Given the description of an element on the screen output the (x, y) to click on. 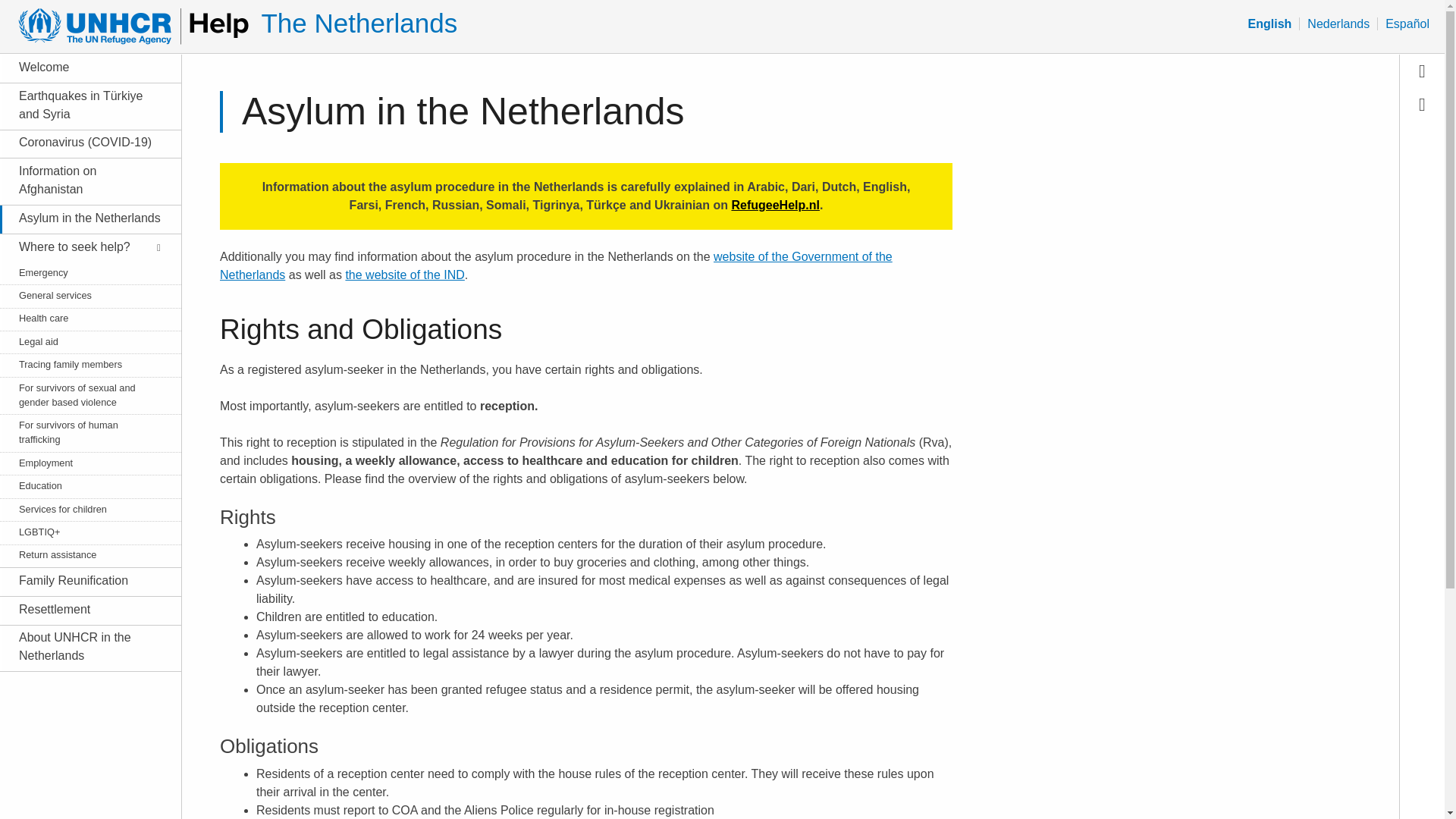
Where to seek help? (81, 247)
Health care (81, 318)
Information on Afghanistan (81, 180)
Return assistance (81, 554)
Tracing family members (81, 364)
UNHCR The Netherlands (358, 22)
Dutch (1338, 24)
Welcome (81, 67)
Services for children (81, 509)
The Netherlands (358, 22)
Nederlands (1338, 24)
Asylum in the Netherlands (81, 218)
Resettlement (81, 609)
Legal aid (81, 341)
the website of the IND (404, 274)
